Given the description of an element on the screen output the (x, y) to click on. 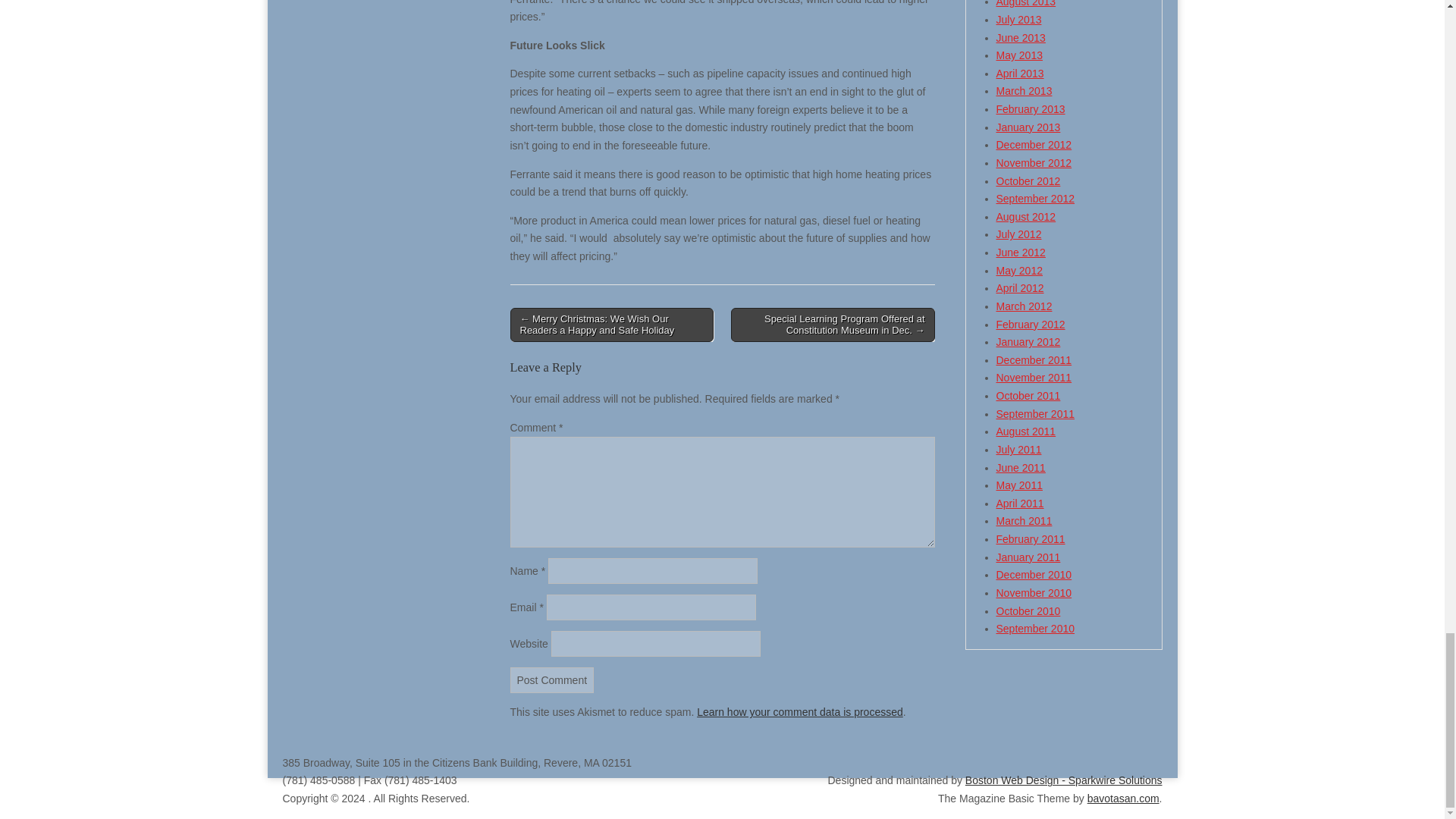
Learn how your comment data is processed (799, 711)
Post Comment (551, 679)
Post Comment (551, 679)
